Given the description of an element on the screen output the (x, y) to click on. 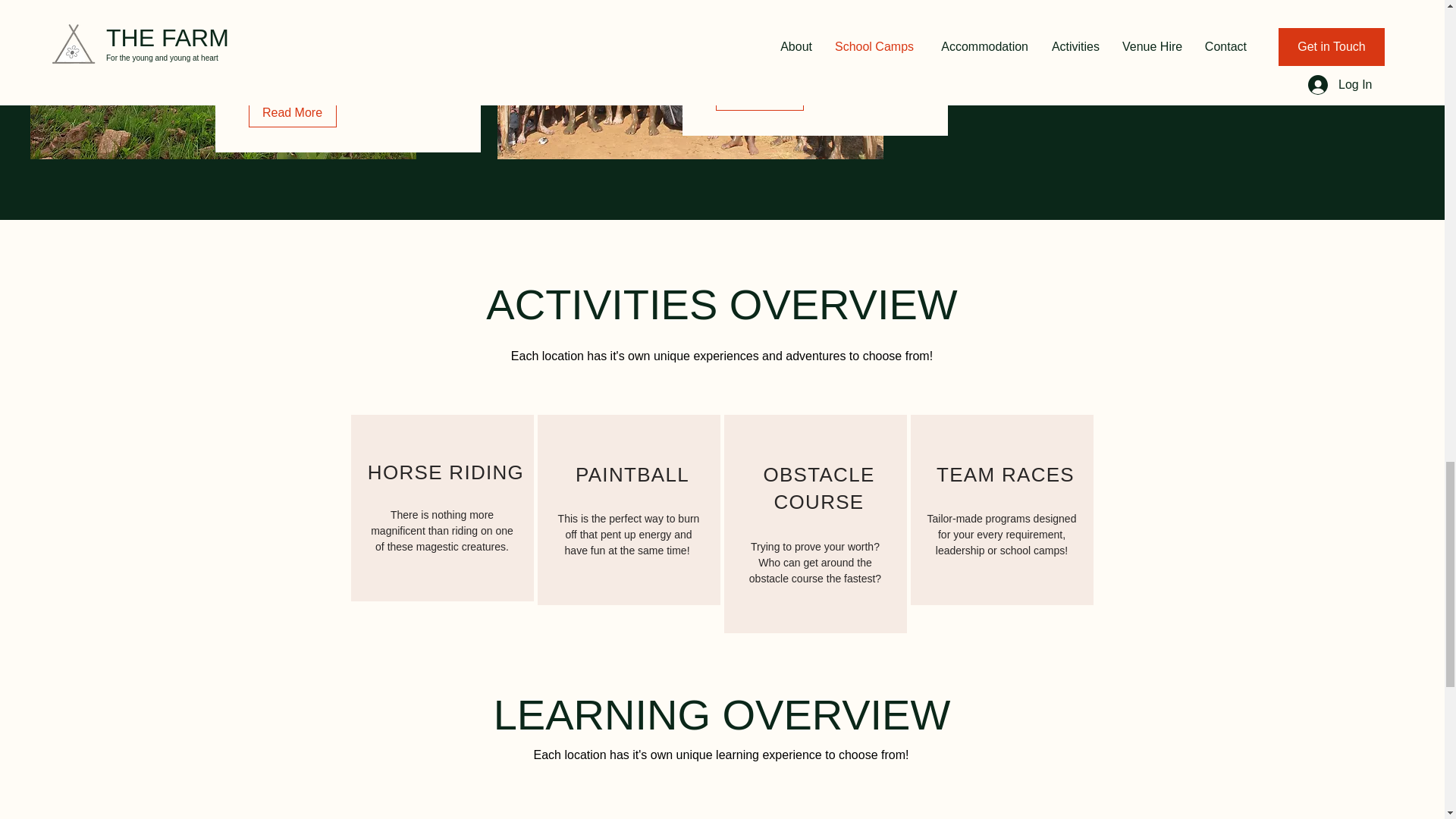
Bush Experience 2.jpeg (223, 79)
Read More (292, 112)
Baynesfield  6.jpeg (690, 79)
Read More (759, 95)
